Given the description of an element on the screen output the (x, y) to click on. 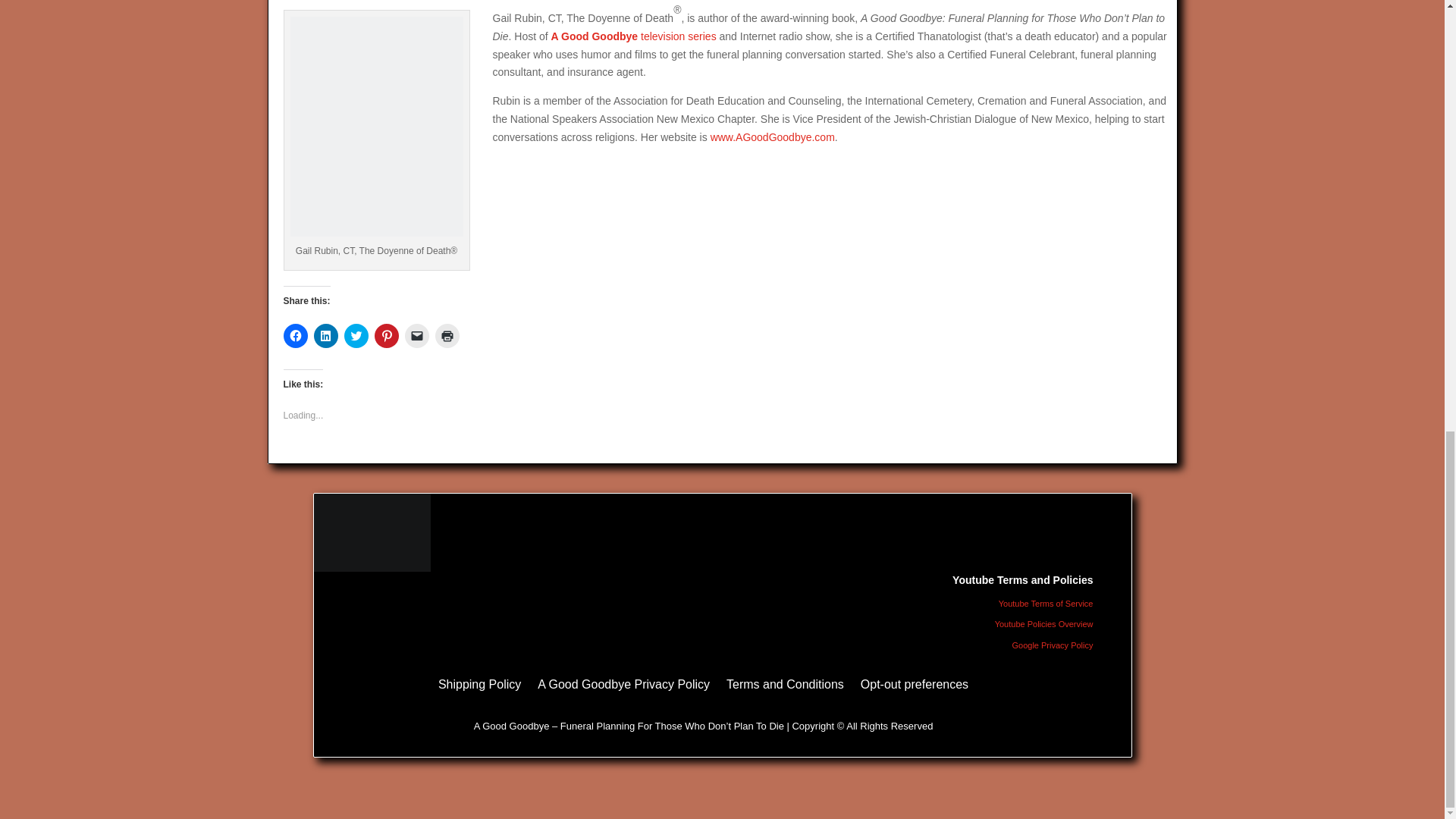
Click to print (447, 335)
Click to share on LinkedIn (325, 335)
Click to share on Pinterest (386, 335)
Click to share on Facebook (295, 335)
Click to share on Twitter (355, 335)
Click to email a link to a friend (416, 335)
